Given the description of an element on the screen output the (x, y) to click on. 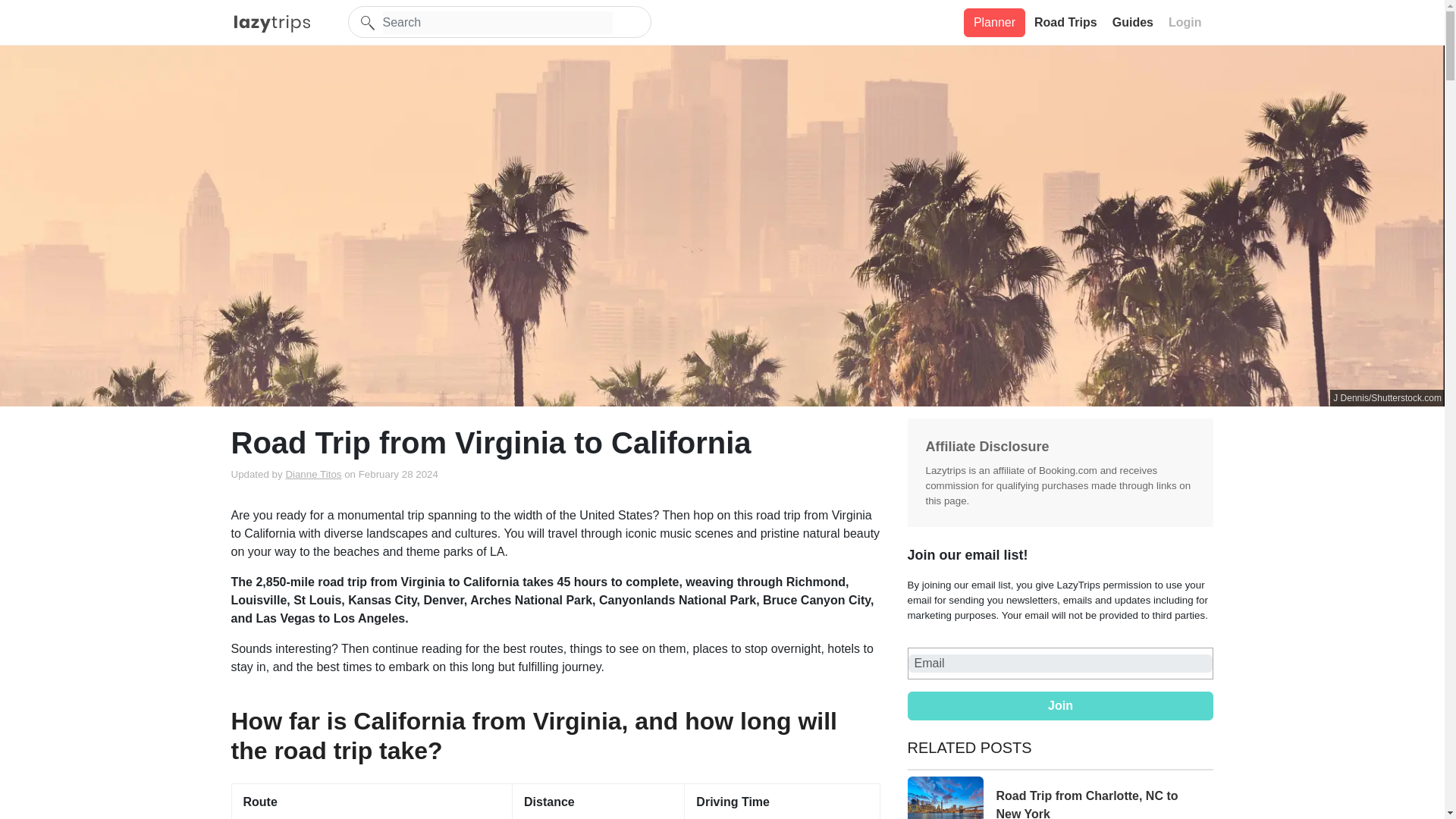
Search (496, 22)
Login (1187, 22)
Road Trip from Charlotte, NC to New York (1059, 797)
Guides (1133, 22)
Planner (994, 21)
Dianne Titos (312, 473)
Road Trips (1066, 22)
Join (1059, 705)
